Given the description of an element on the screen output the (x, y) to click on. 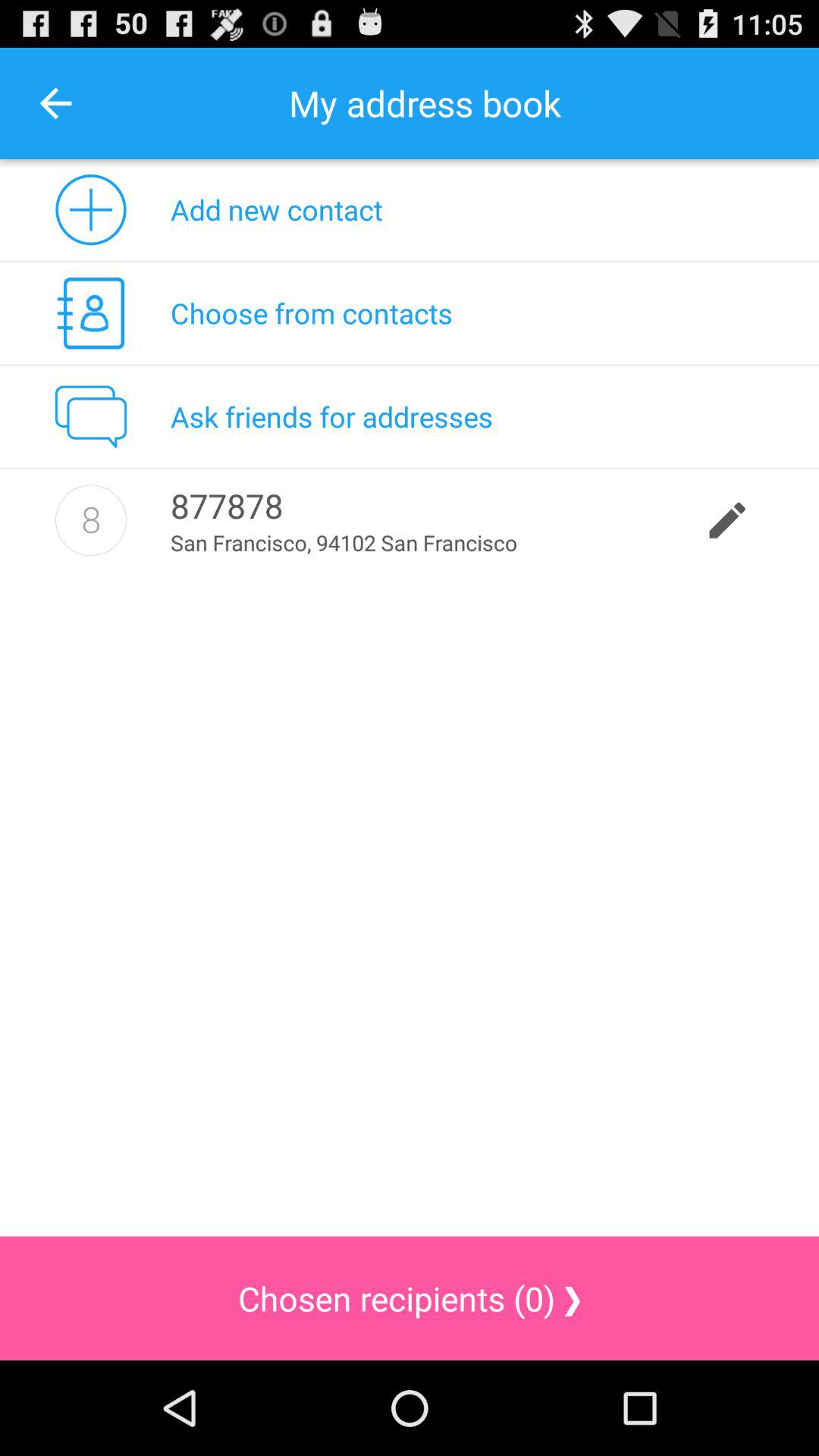
go to edit (90, 520)
